Given the description of an element on the screen output the (x, y) to click on. 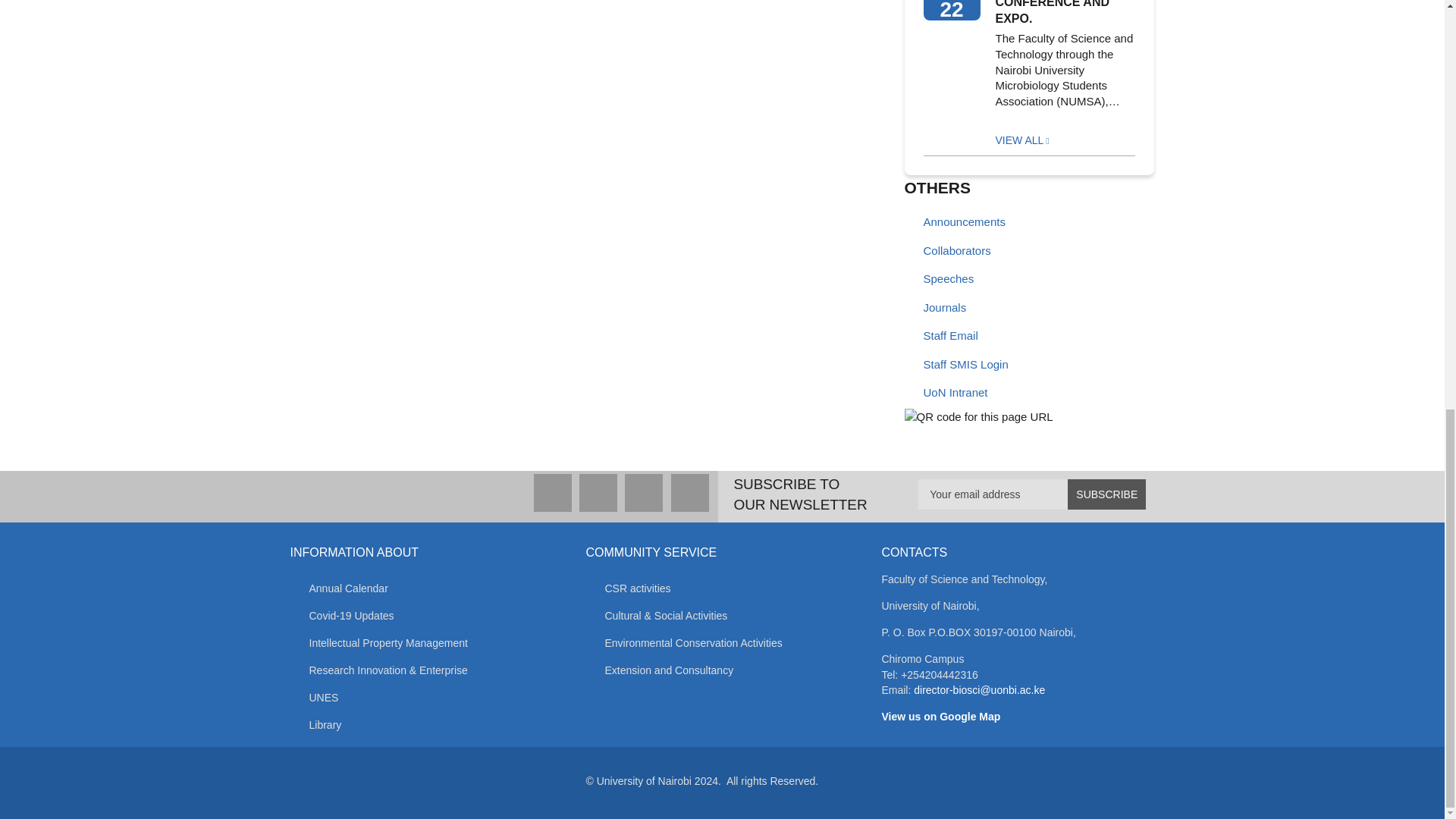
Your email address (1031, 494)
Collaborators (972, 251)
SUBSCRIBE (1106, 494)
Announcements (972, 222)
Speeches (972, 279)
